Given the description of an element on the screen output the (x, y) to click on. 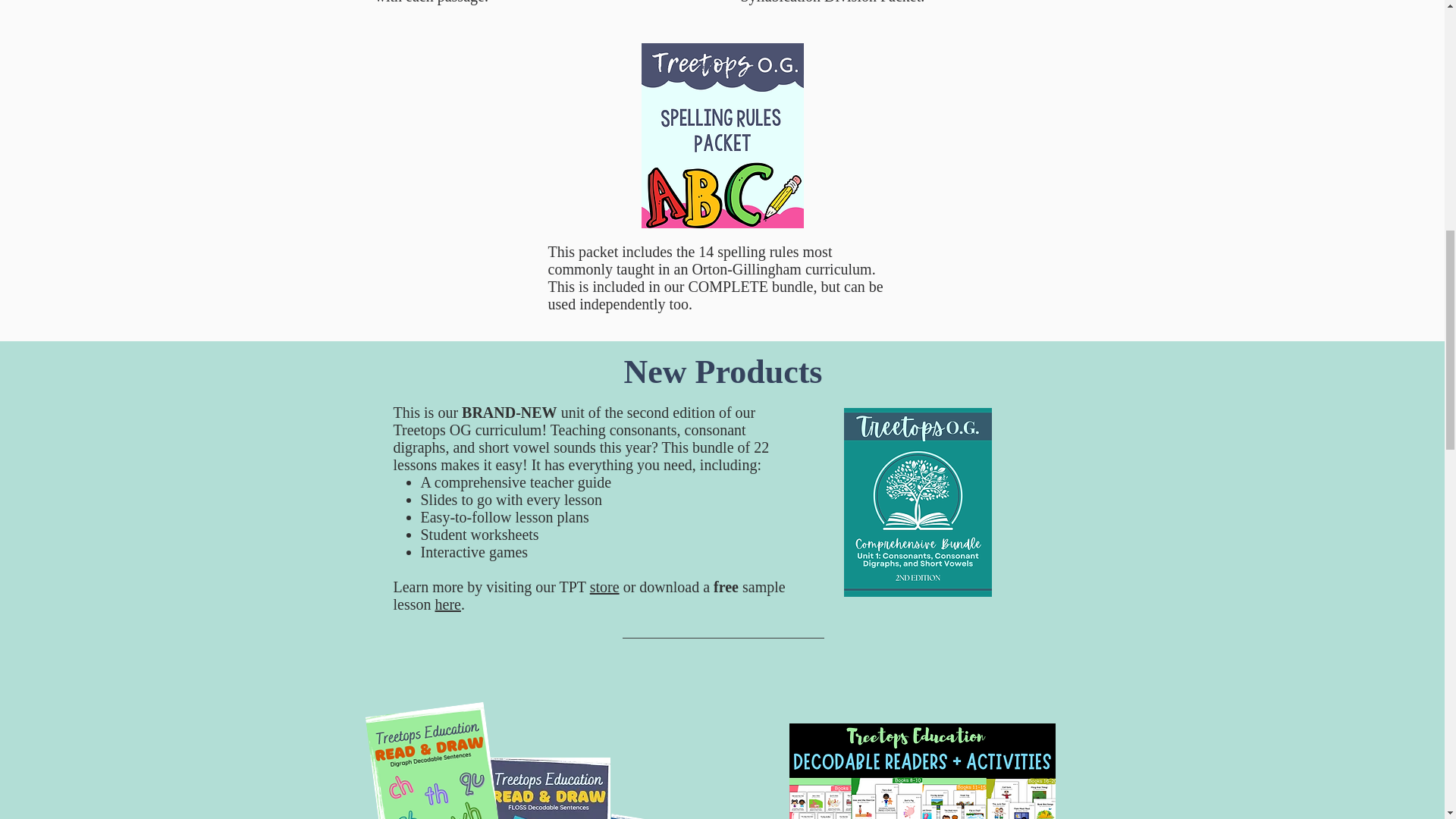
store (604, 586)
here (448, 604)
7.png (424, 760)
